Given the description of an element on the screen output the (x, y) to click on. 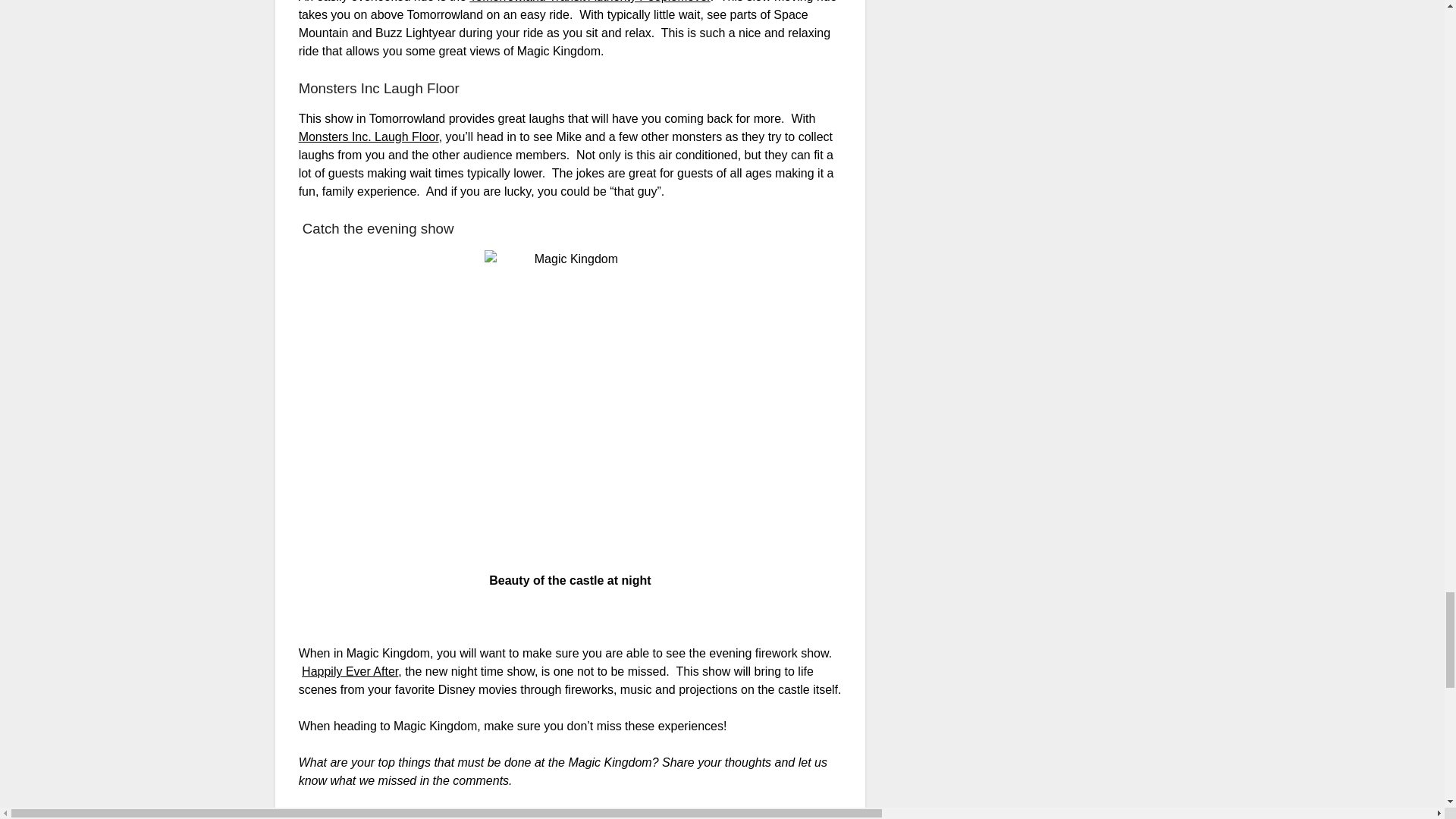
Tomorrowland Transit Authority PeopleMover (589, 1)
Happily Ever After (349, 671)
Monsters Inc. Laugh Floor (368, 136)
